Given the description of an element on the screen output the (x, y) to click on. 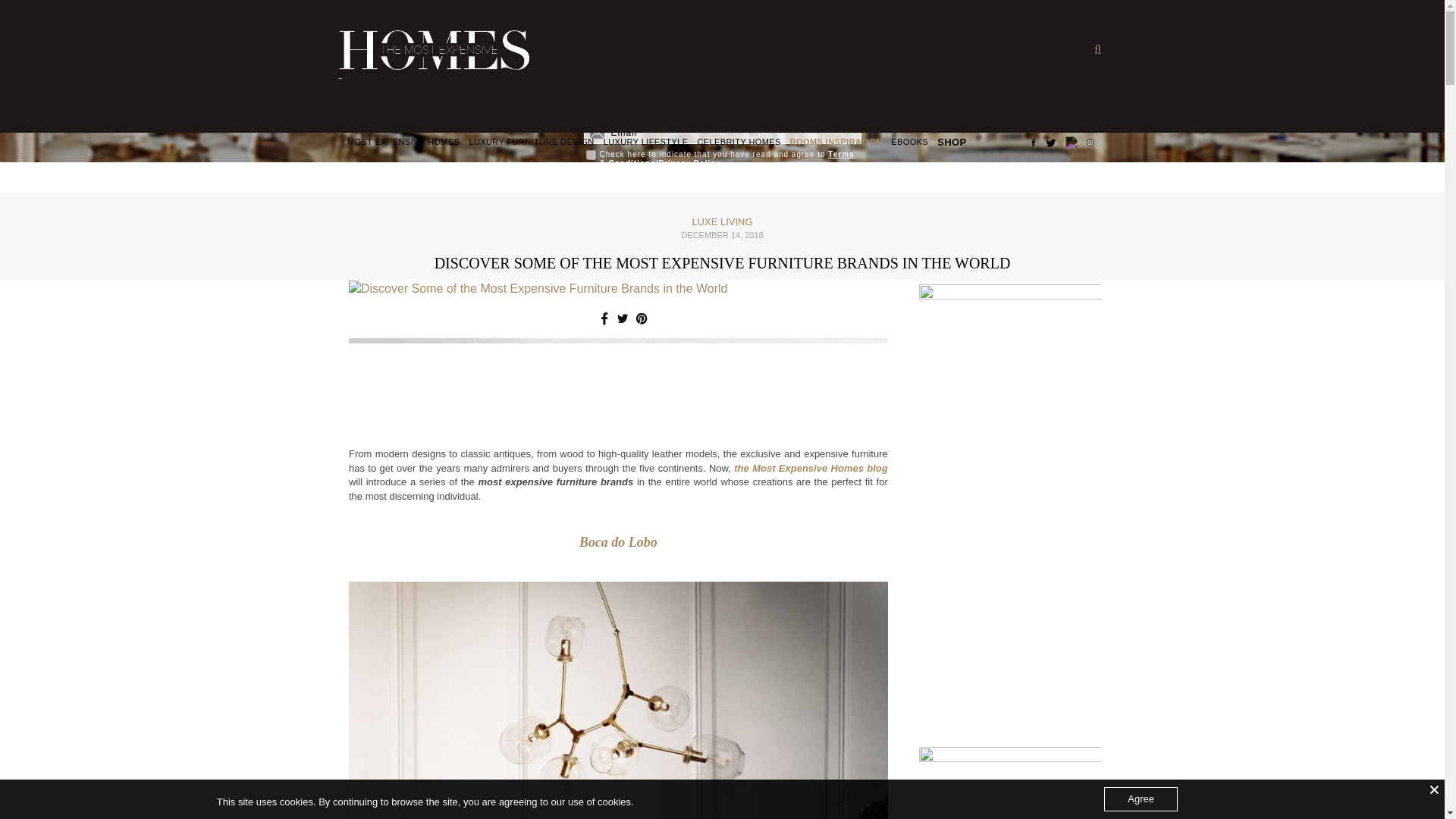
EBOOKS (909, 142)
on (590, 154)
ROOMS INSPIRATION (836, 142)
CELEBRITY HOMES (738, 142)
LUXURY FURNITURE DESIGN (531, 142)
UNLOCK IT NOW (722, 188)
SHOP (951, 142)
UNLOCK IT NOW (722, 188)
LUXURY LIFESTYLE (646, 142)
MOST EXPENSIVE HOMES (403, 142)
